Given the description of an element on the screen output the (x, y) to click on. 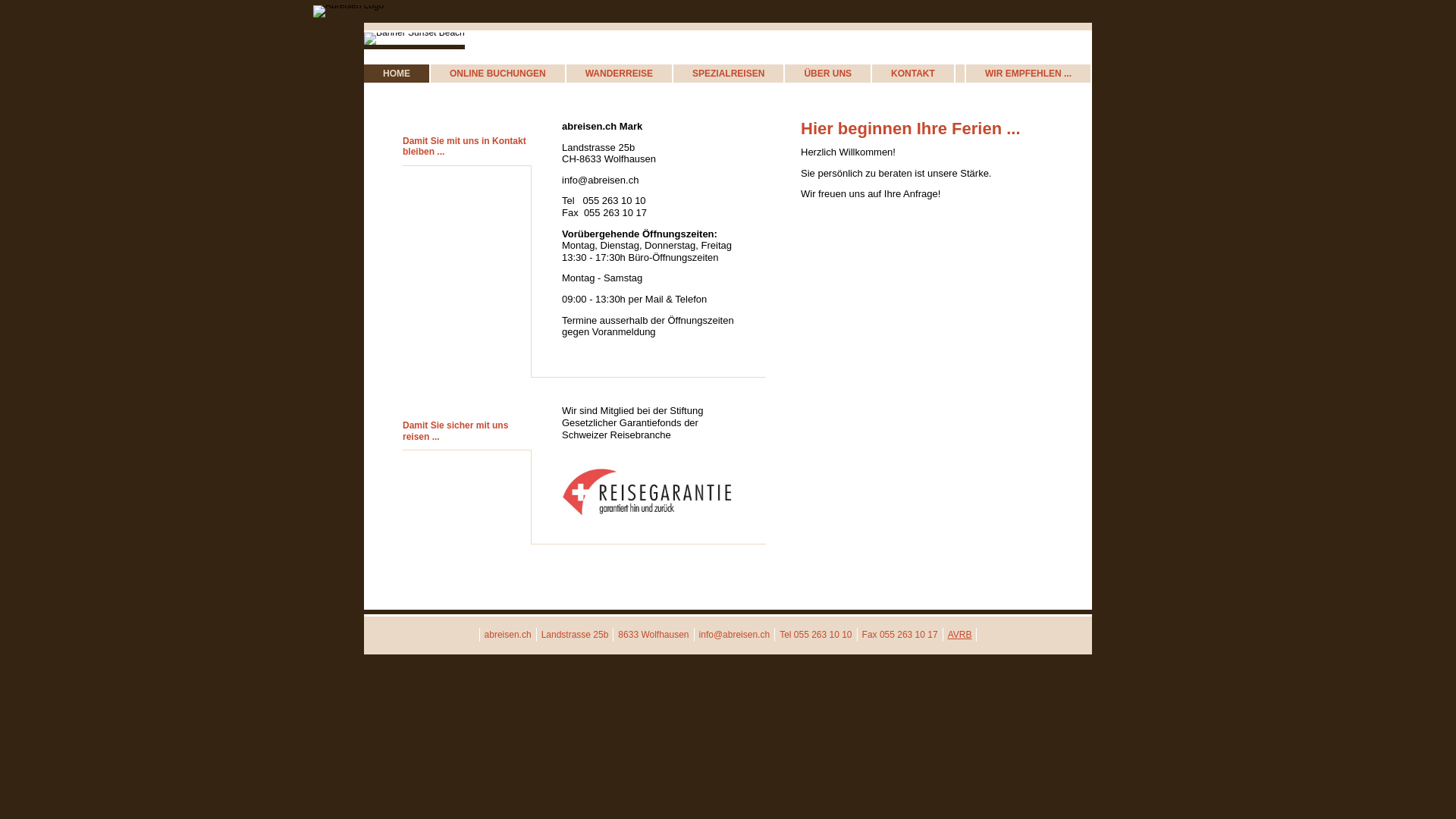
SPEZIALREISEN Element type: text (728, 73)
WANDERREISE Element type: text (618, 73)
Reisegarantie Element type: hover (646, 519)
WIR EMPFEHLEN ... Element type: text (1028, 73)
ONLINE BUCHUNGEN Element type: text (497, 73)
AVRB Element type: text (959, 634)
KONTAKT Element type: text (912, 73)
  Element type: text (954, 72)
